Given the description of an element on the screen output the (x, y) to click on. 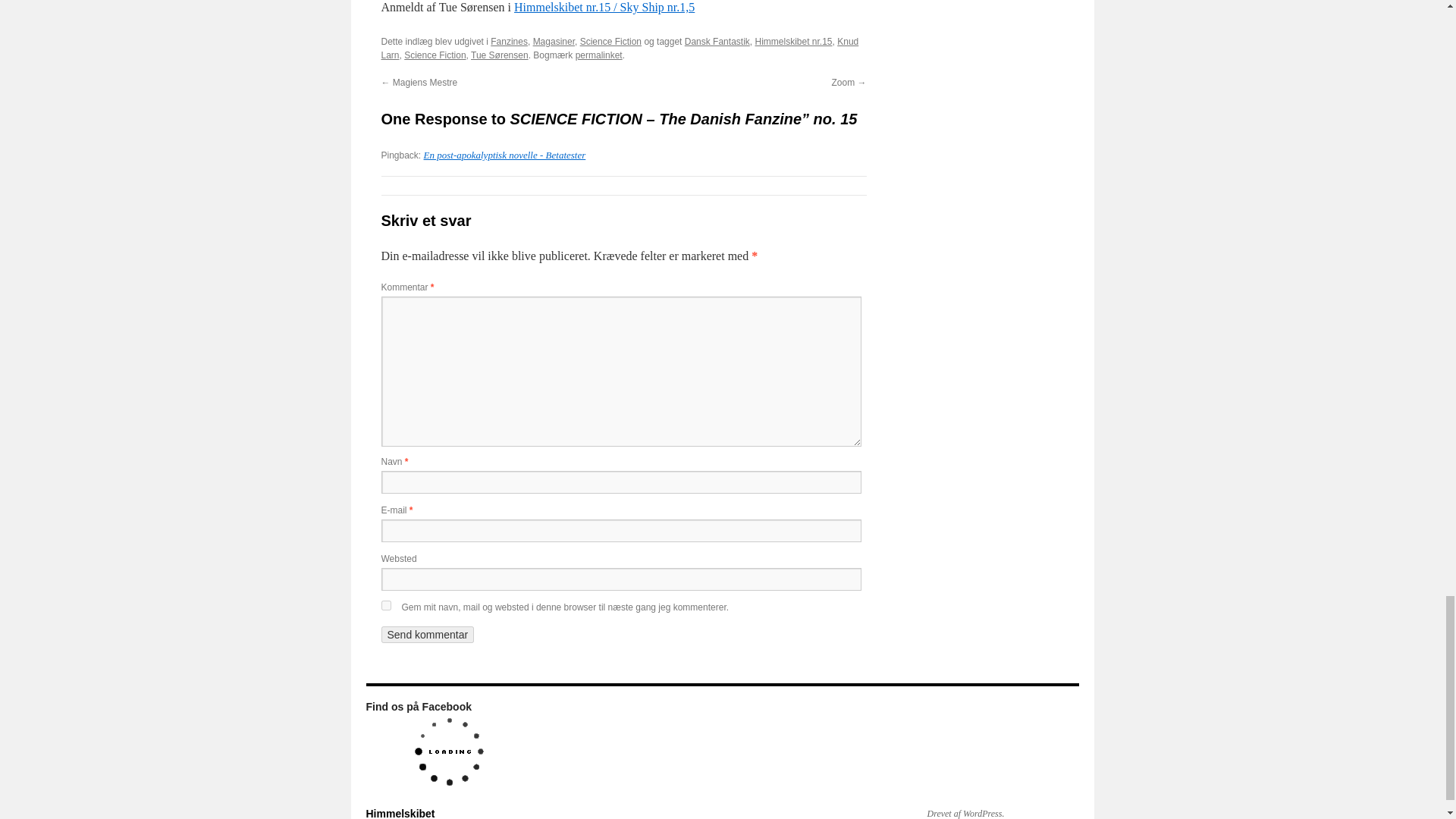
Send kommentar (427, 634)
Dansk Fantastik (716, 41)
Science Fiction (610, 41)
permalinket (599, 54)
Send kommentar (427, 634)
Himmelskibet nr.15 (792, 41)
yes (385, 605)
Magasiner (553, 41)
Fanzines (508, 41)
Science Fiction (434, 54)
Knud Larn (619, 48)
En post-apokalyptisk novelle - Betatester (504, 154)
